Given the description of an element on the screen output the (x, y) to click on. 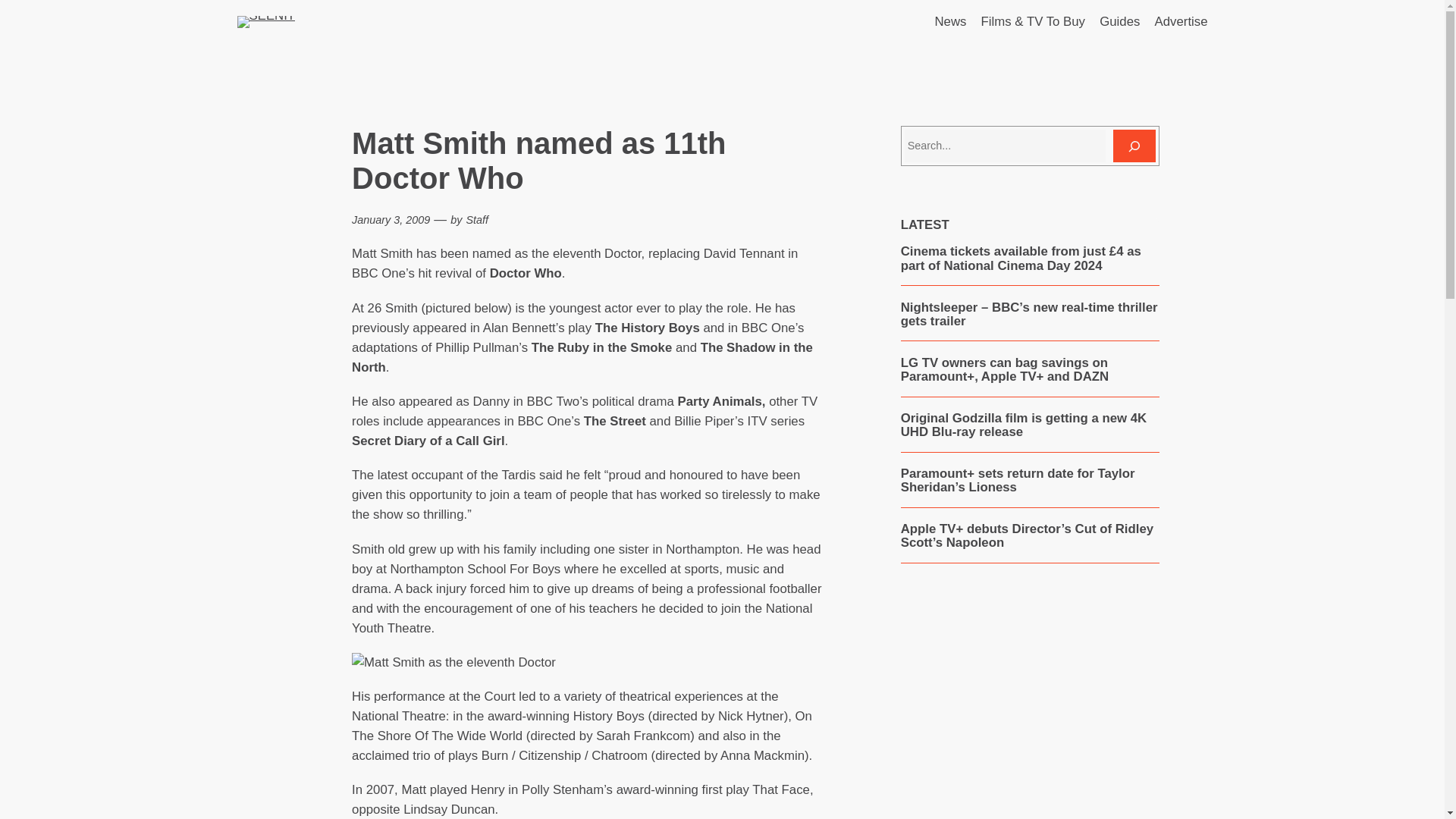
News (950, 21)
Staff (476, 219)
Guides (1119, 21)
Advertise (1181, 21)
